Given the description of an element on the screen output the (x, y) to click on. 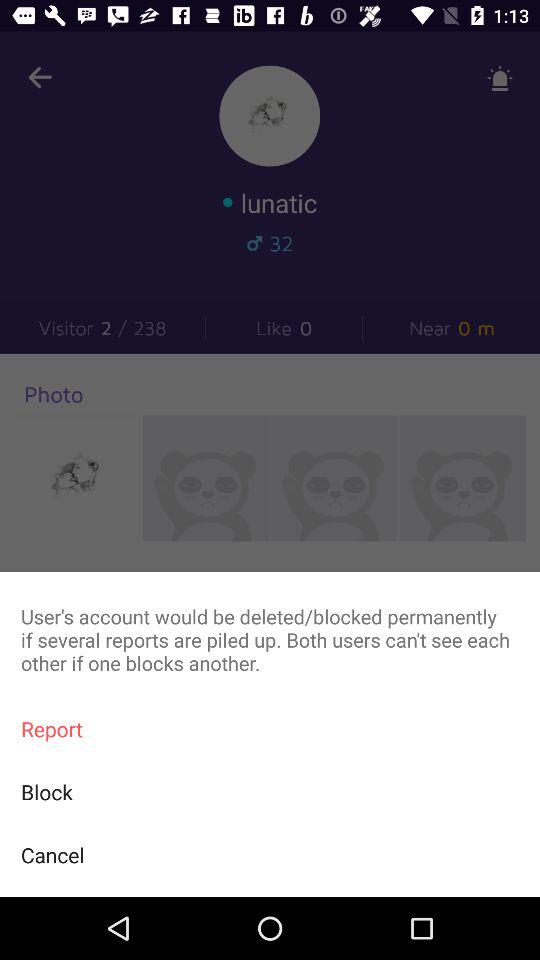
scroll until cancel (270, 854)
